Given the description of an element on the screen output the (x, y) to click on. 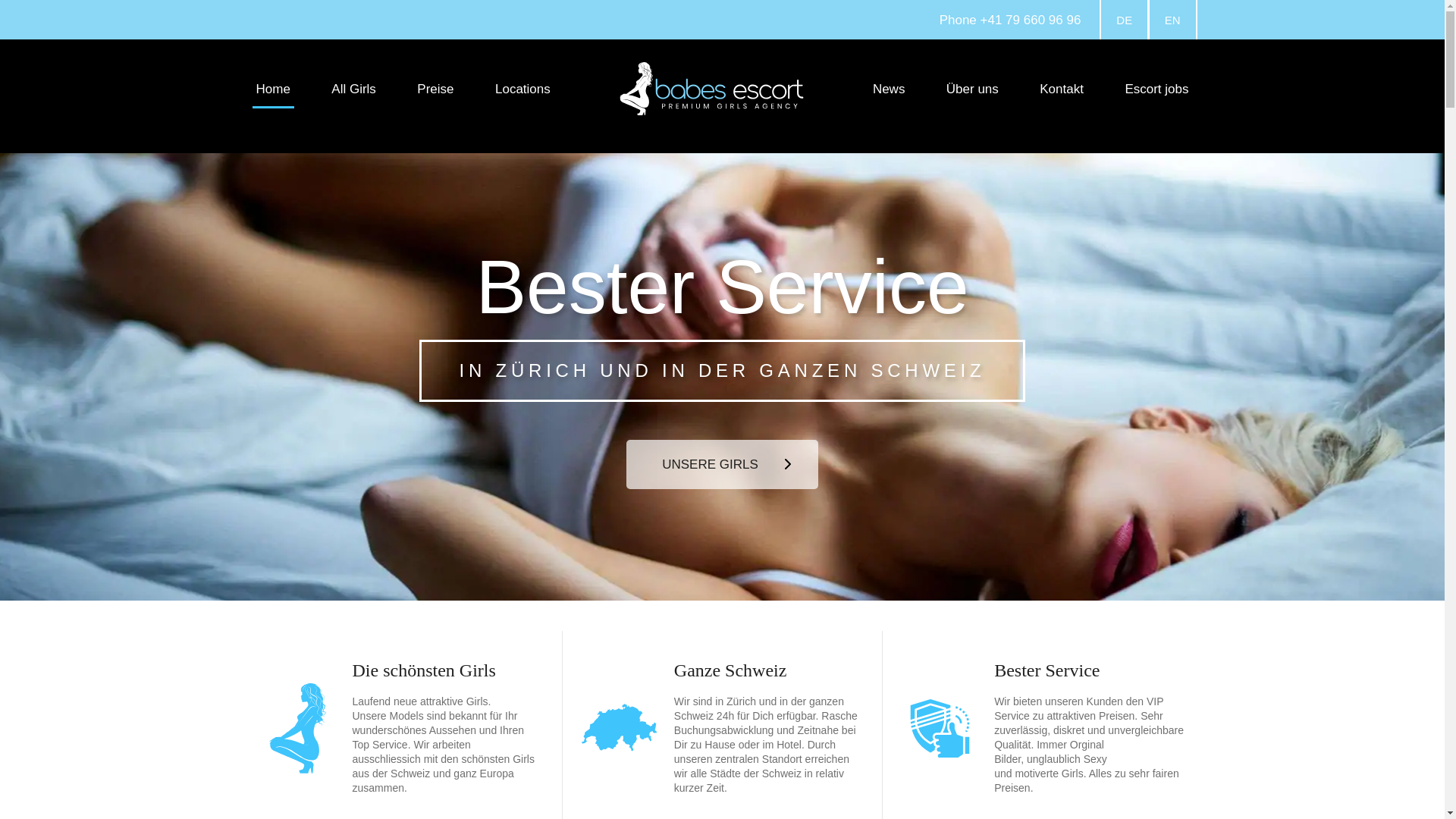
Locations Element type: text (522, 97)
Home Element type: text (272, 90)
News Element type: text (889, 90)
+41 79 660 96 96 Element type: text (1030, 19)
DE Element type: text (1124, 19)
Preise Element type: text (435, 90)
UNSERE GIRLS Element type: text (722, 464)
EN Element type: text (1172, 19)
Escort jobs Element type: text (1156, 90)
Kontakt Element type: text (1061, 90)
Arrow Element type: hover (787, 463)
All Girls Element type: text (353, 90)
